Given the description of an element on the screen output the (x, y) to click on. 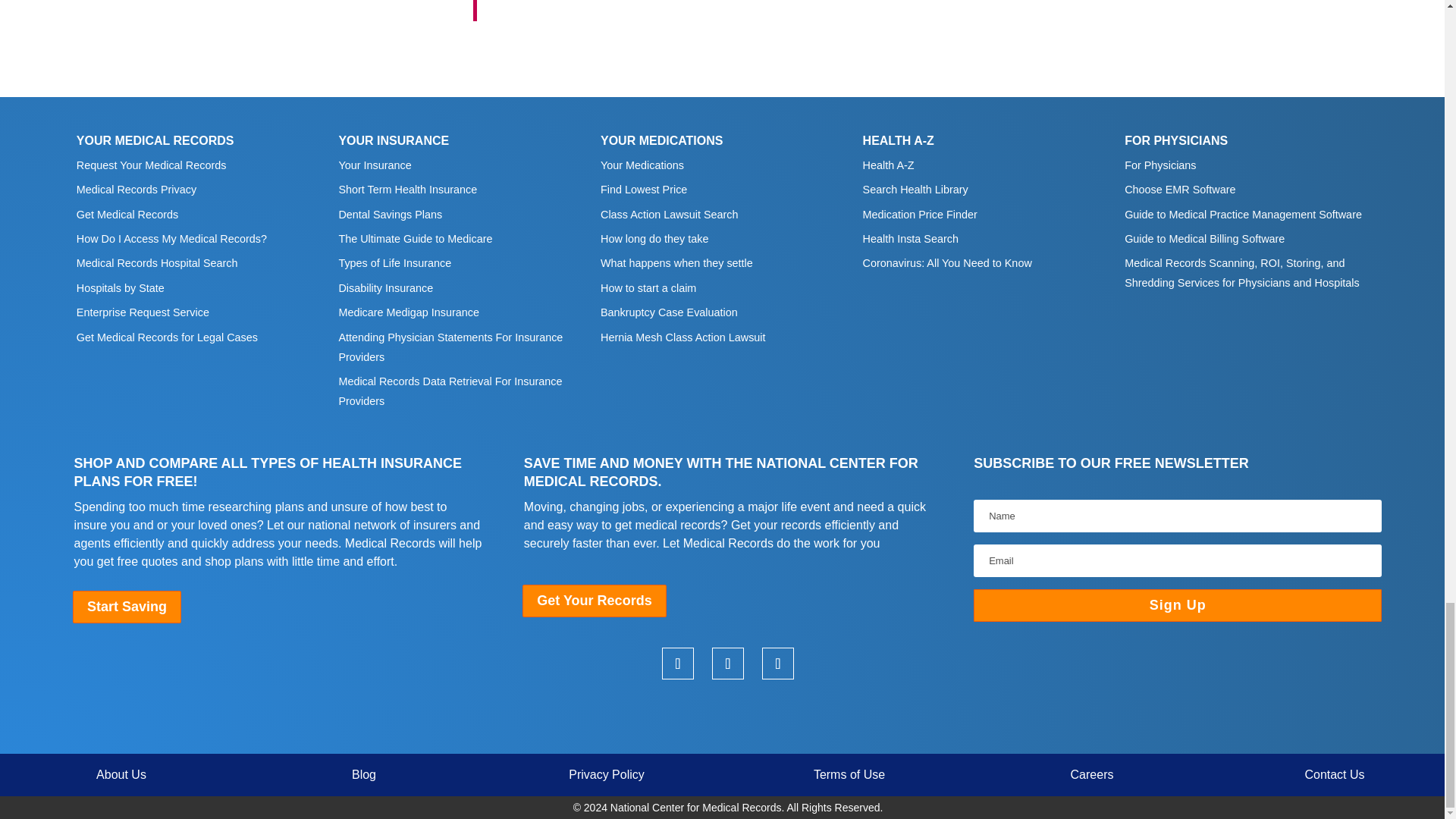
Follow on Facebook (777, 663)
Follow on X (727, 663)
medicalrecords.com (727, 716)
Follow on LinkedIn (678, 663)
